Given the description of an element on the screen output the (x, y) to click on. 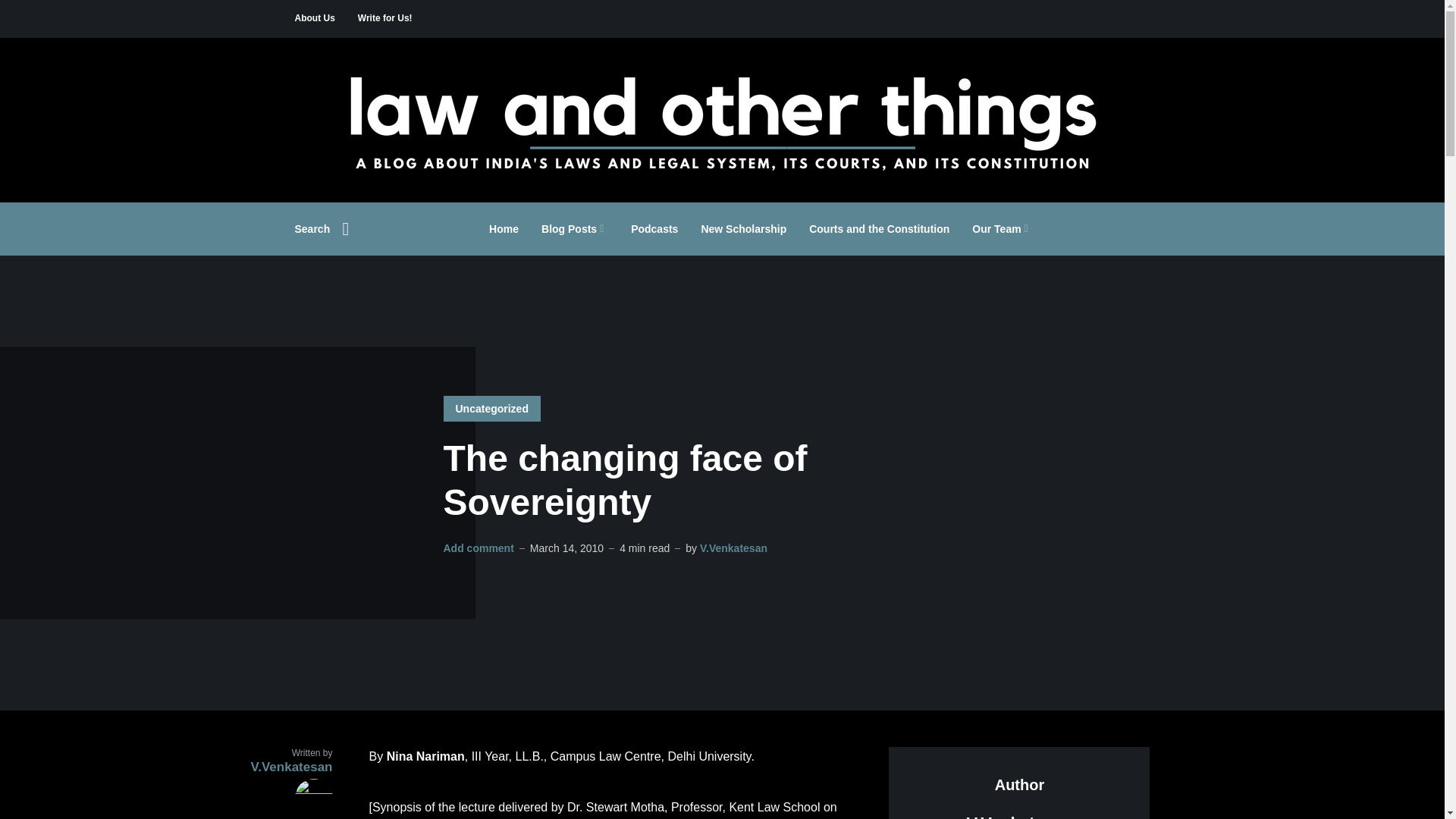
V.Venkatesan (733, 548)
Blog Posts (574, 228)
Add comment (477, 548)
Our Team (1002, 228)
Uncategorized (491, 408)
Courts and the Constitution (879, 228)
New Scholarship (743, 228)
Podcasts (654, 228)
About Us (314, 18)
Write for Us! (385, 18)
